Given the description of an element on the screen output the (x, y) to click on. 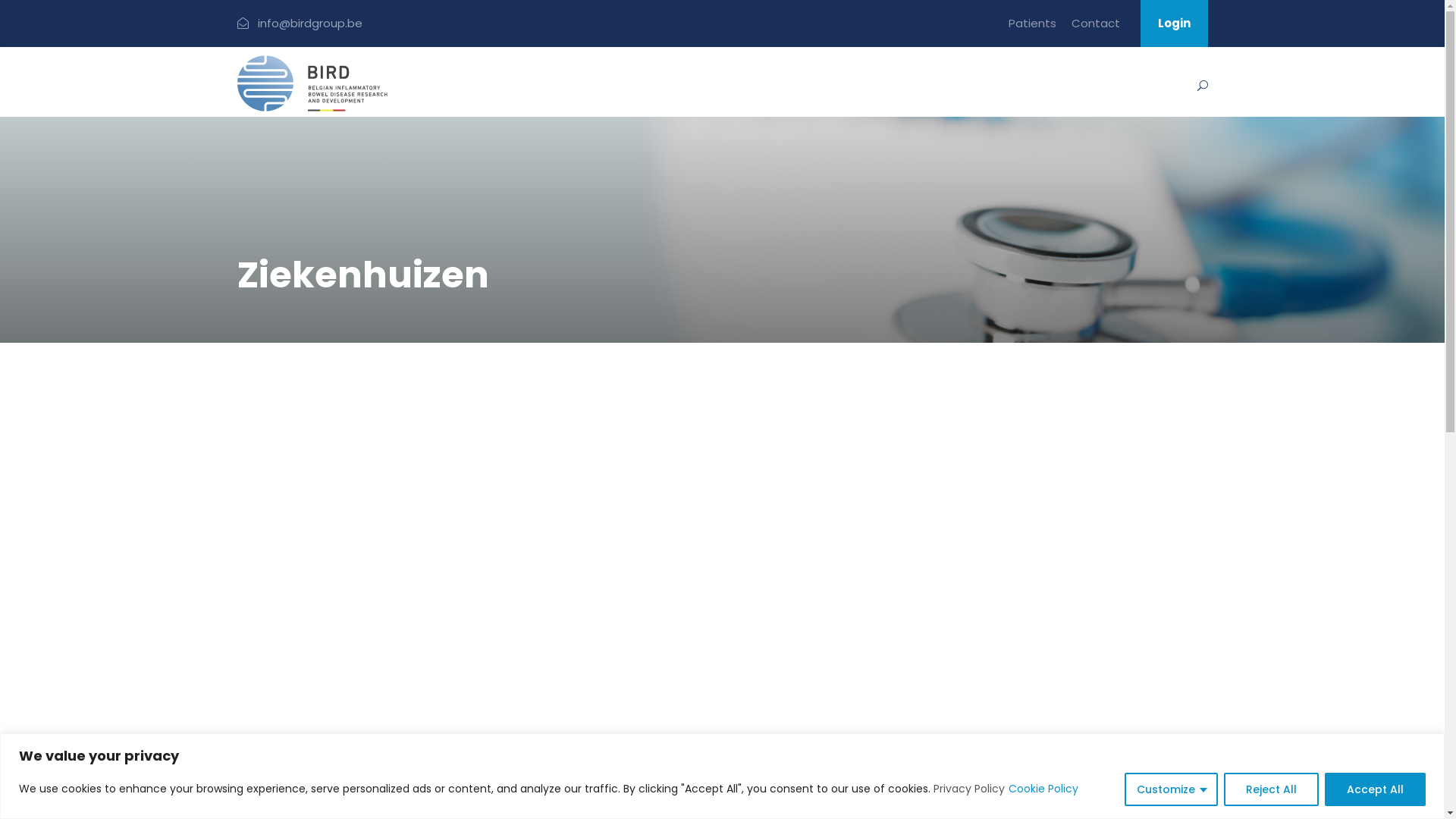
Customize Element type: text (1170, 788)
Contact Element type: text (1094, 29)
Reject All Element type: text (1270, 788)
Privacy Policy Element type: text (968, 788)
Cookie Policy Element type: text (1043, 788)
Accept All Element type: text (1374, 788)
Patients Element type: text (1032, 29)
Login Element type: text (1174, 23)
